Given the description of an element on the screen output the (x, y) to click on. 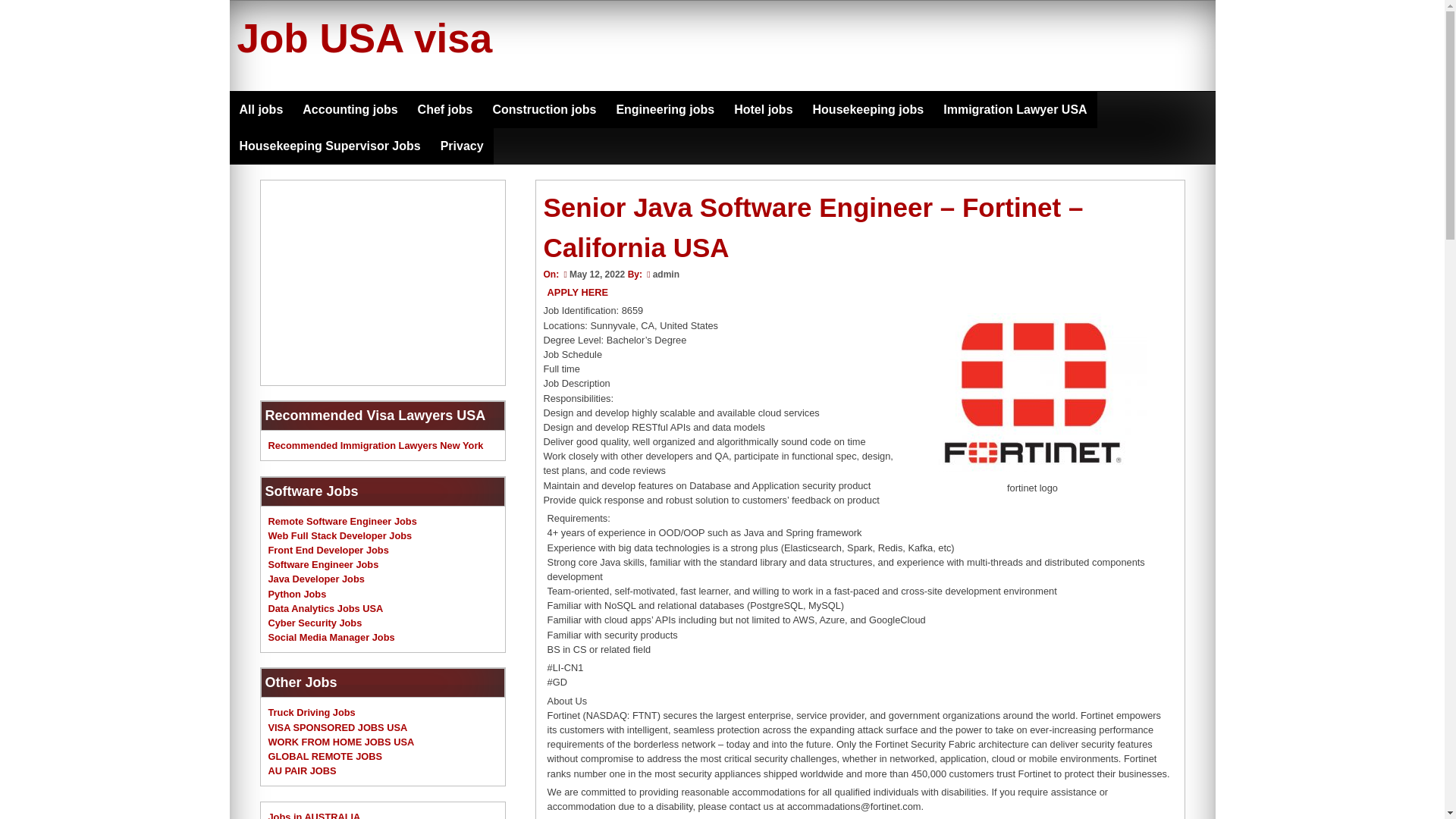
APPLY HERE (577, 292)
May 12, 2022 (592, 274)
Job USA visa (363, 37)
Construction jobs (543, 109)
Hotel jobs (762, 109)
admin (665, 274)
Front End Developer Jobs (327, 550)
Accounting jobs (349, 109)
GLOBAL REMOTE JOBS (324, 756)
All jobs (260, 109)
Privacy (461, 145)
Python Jobs (296, 593)
Cyber Security Jobs (314, 622)
AU PAIR JOBS (301, 770)
Advertisement (382, 282)
